Given the description of an element on the screen output the (x, y) to click on. 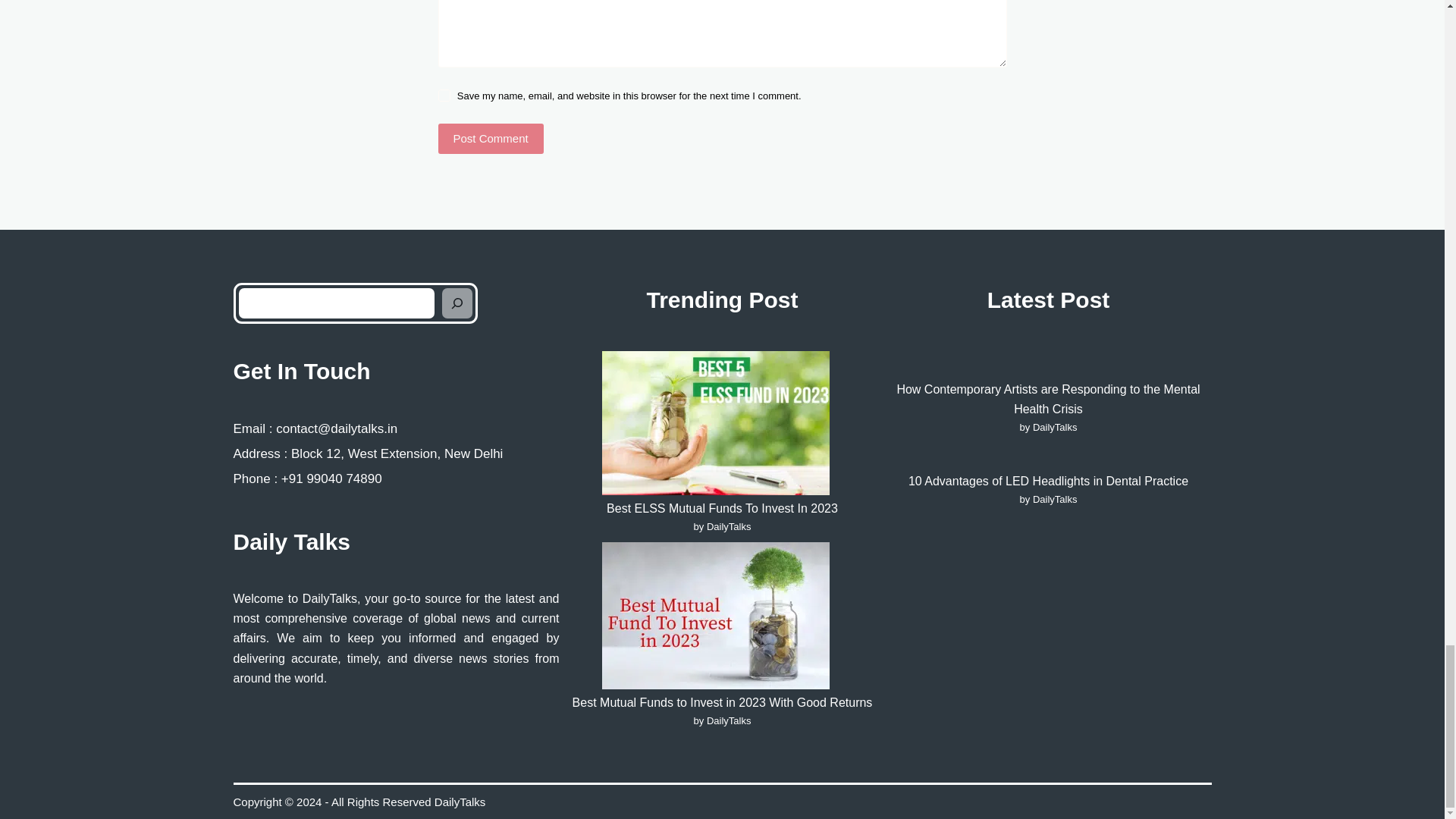
Post Comment (490, 138)
yes (443, 95)
